Given the description of an element on the screen output the (x, y) to click on. 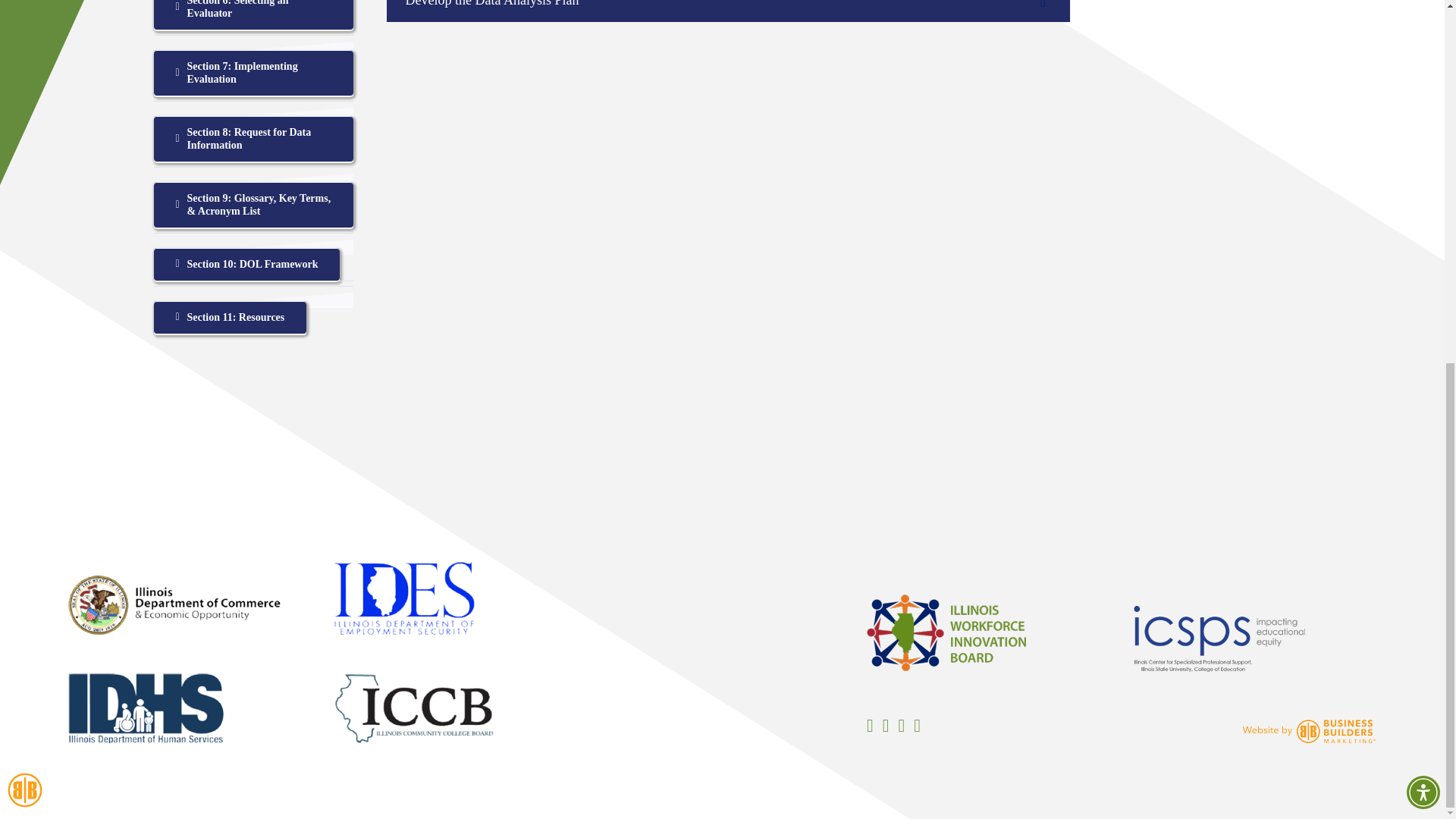
IWIB-Logo (946, 632)
IDHS (146, 707)
ICSPS-Logo (1219, 638)
Section 11: Resources (228, 317)
Web Change Request (24, 140)
ICCB (413, 708)
IDES (404, 598)
Section 10: DOL Framework (245, 264)
Develop the Data Analysis Plan (728, 10)
Accessibility Menu (1422, 142)
Section 8: Request for Data Information (252, 138)
Section 6: Selecting an Evaluator (252, 14)
Section 7: Implementing Evaluation (252, 72)
Illinois-dept (174, 605)
